Given the description of an element on the screen output the (x, y) to click on. 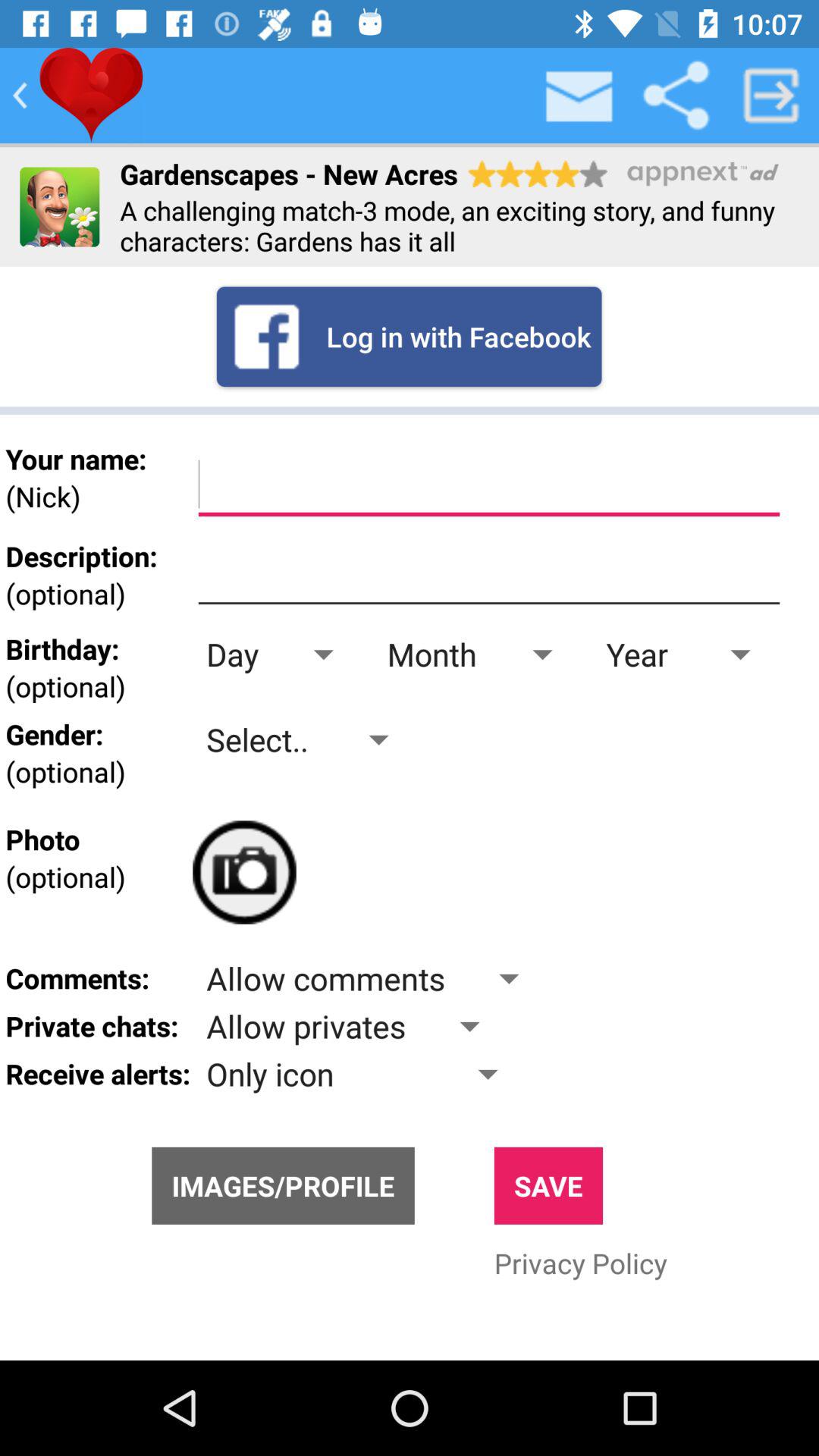
message (579, 95)
